Given the description of an element on the screen output the (x, y) to click on. 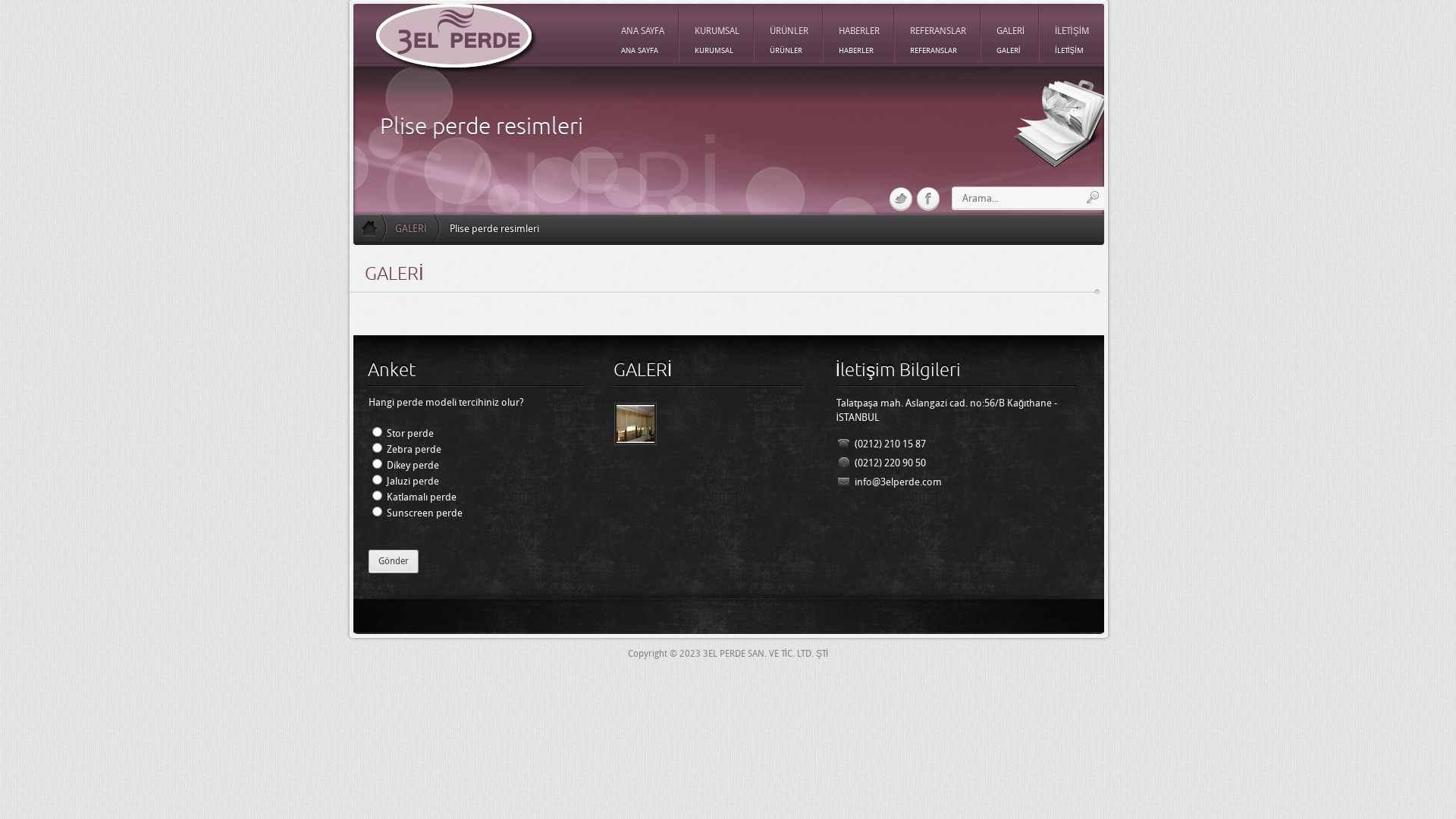
ANA SAYFA
ANA SAYFA Element type: text (642, 31)
KURUMSAL
KURUMSAL Element type: text (716, 31)
REFERANSLAR
REFERANSLAR Element type: text (937, 31)
HABERLER
HABERLER Element type: text (858, 31)
